Given the description of an element on the screen output the (x, y) to click on. 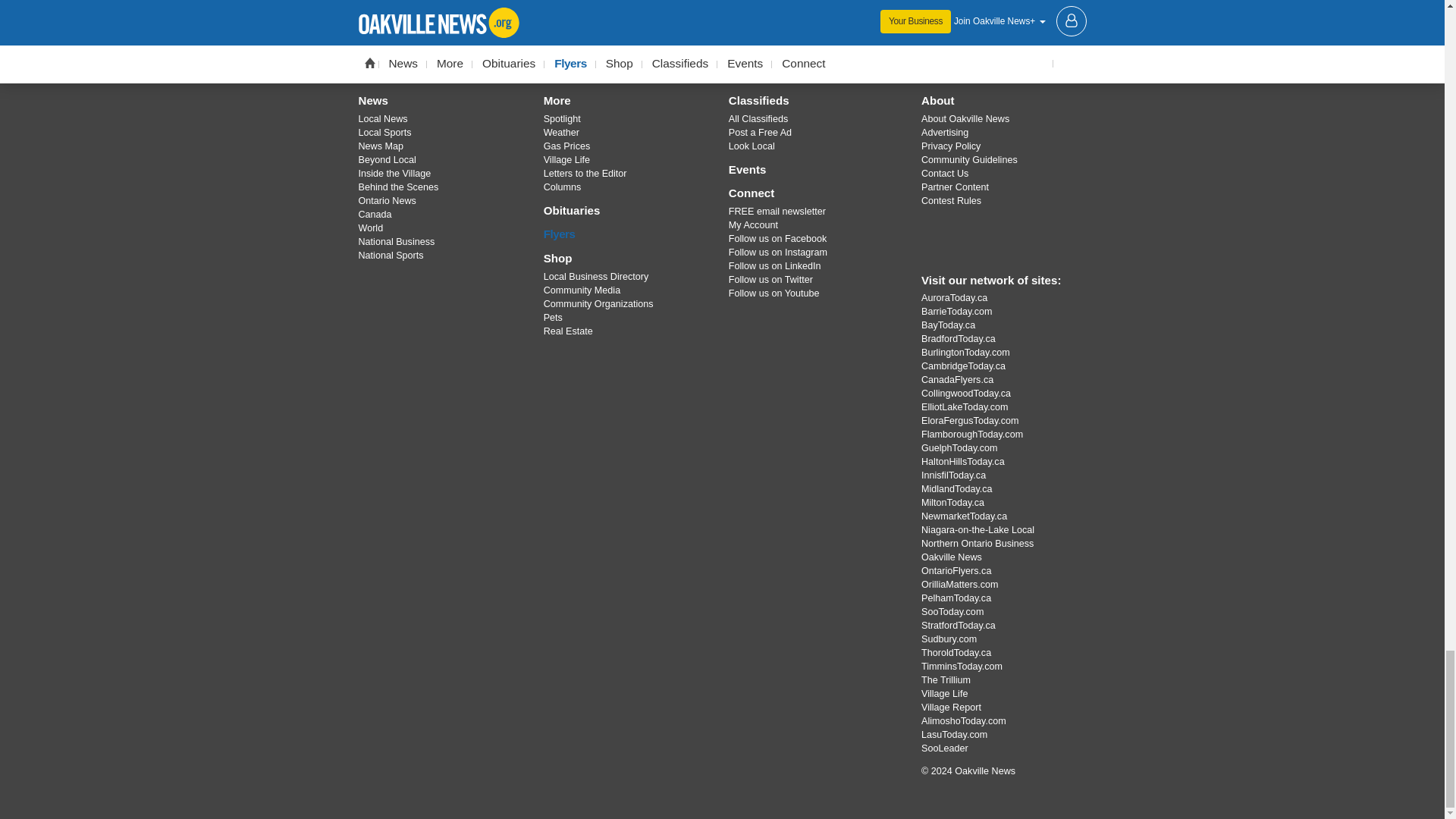
Facebook (644, 47)
LinkedIn (800, 47)
Instagram (721, 47)
YouTube (760, 47)
X (683, 47)
